Given the description of an element on the screen output the (x, y) to click on. 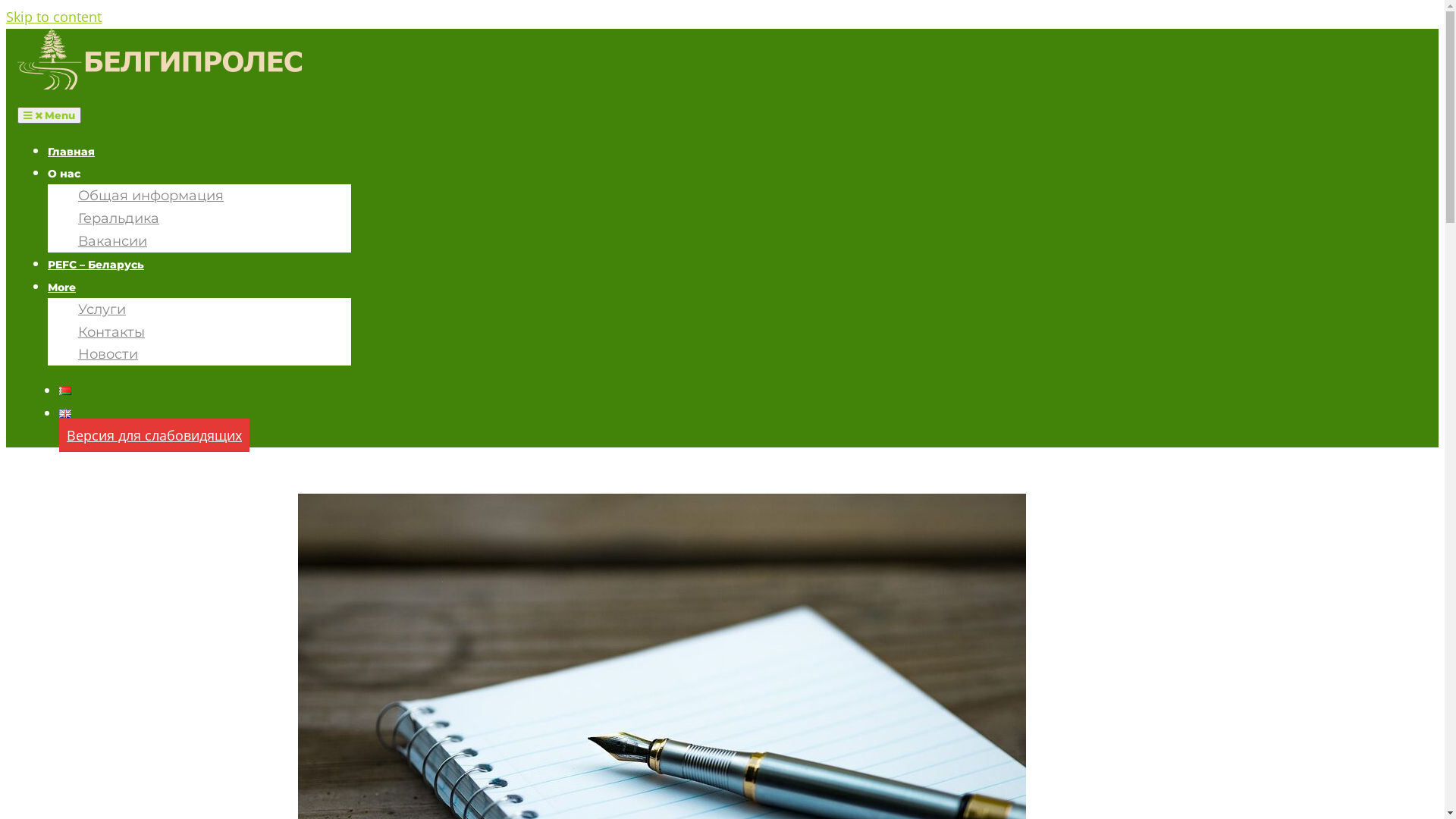
Skip to content Element type: text (53, 16)
English Element type: hover (65, 413)
More Element type: text (61, 287)
Menu Element type: text (49, 114)
